Given the description of an element on the screen output the (x, y) to click on. 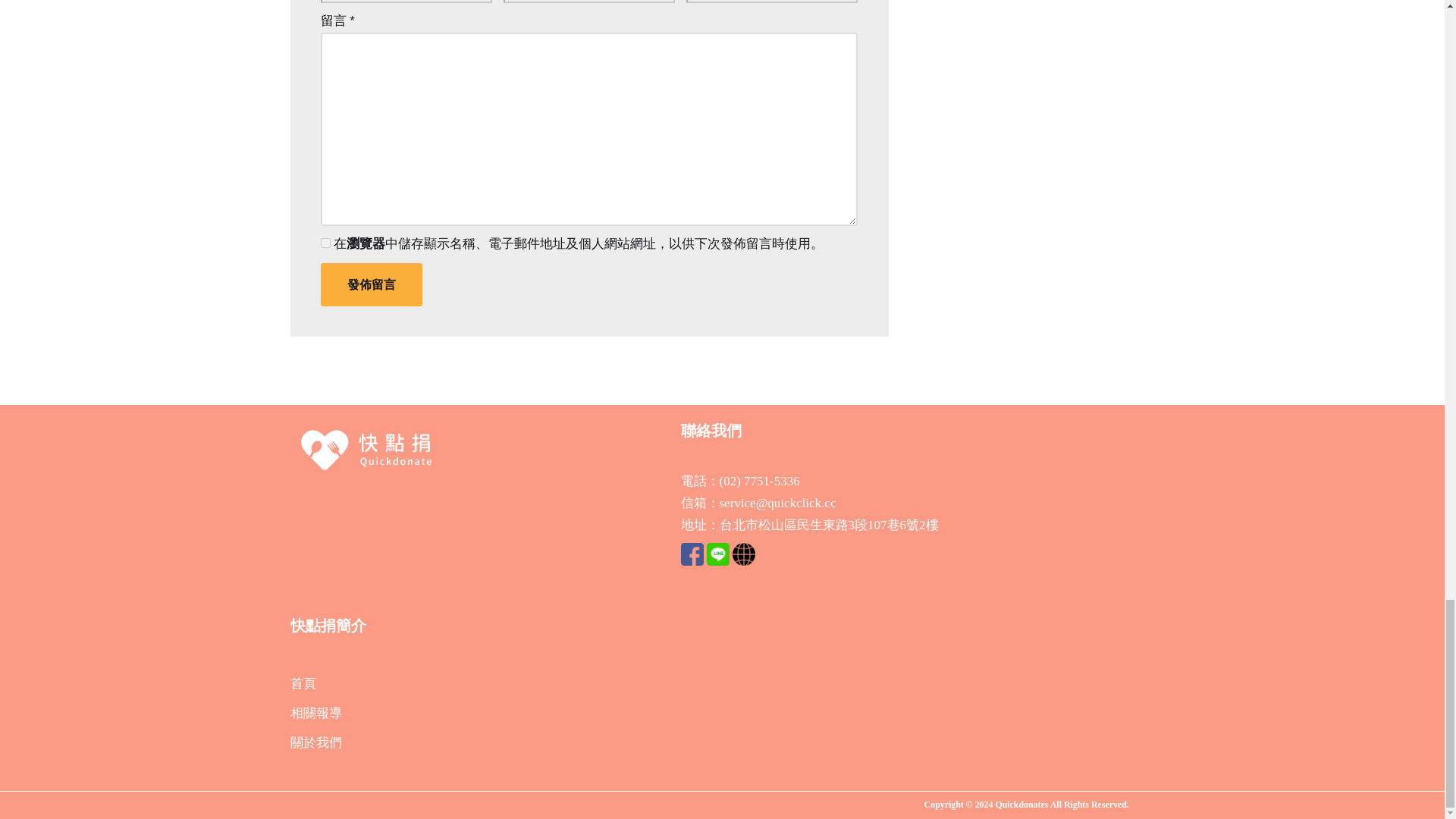
yes (325, 243)
